Given the description of an element on the screen output the (x, y) to click on. 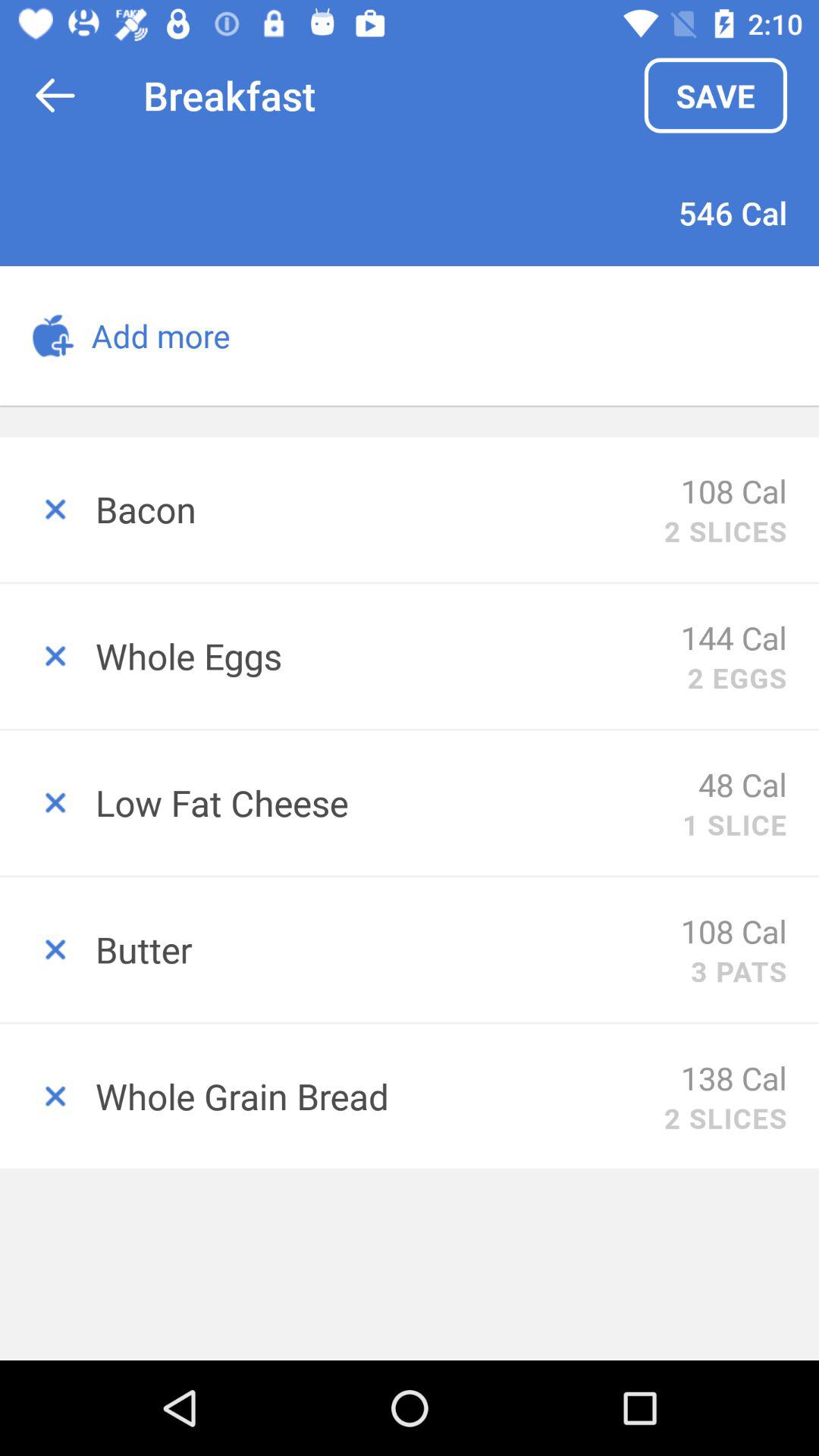
select the icon below the butter item (733, 1077)
